Given the description of an element on the screen output the (x, y) to click on. 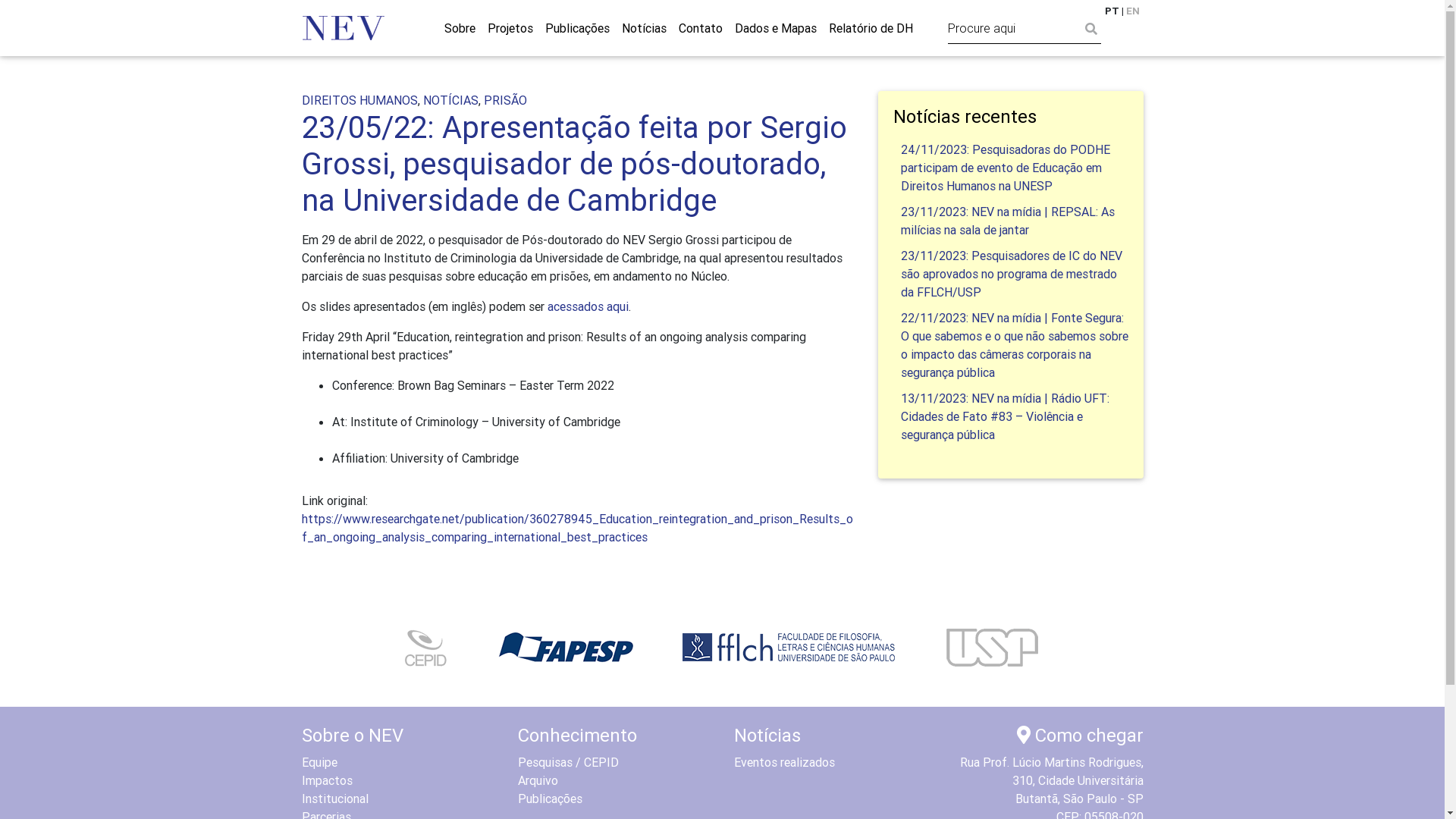
Pesquisas / CEPID Element type: text (567, 761)
EN Element type: text (1132, 10)
Impactos Element type: text (326, 779)
Eventos realizados Element type: text (784, 761)
Projetos Element type: text (509, 27)
DIREITOS HUMANOS Element type: text (359, 99)
Arquivo Element type: text (537, 779)
Contato Element type: text (699, 27)
acessados aqui Element type: text (587, 305)
Institucional Element type: text (334, 798)
Equipe Element type: text (319, 761)
Dados e Mapas Element type: text (775, 27)
Sobre Element type: text (459, 27)
